Given the description of an element on the screen output the (x, y) to click on. 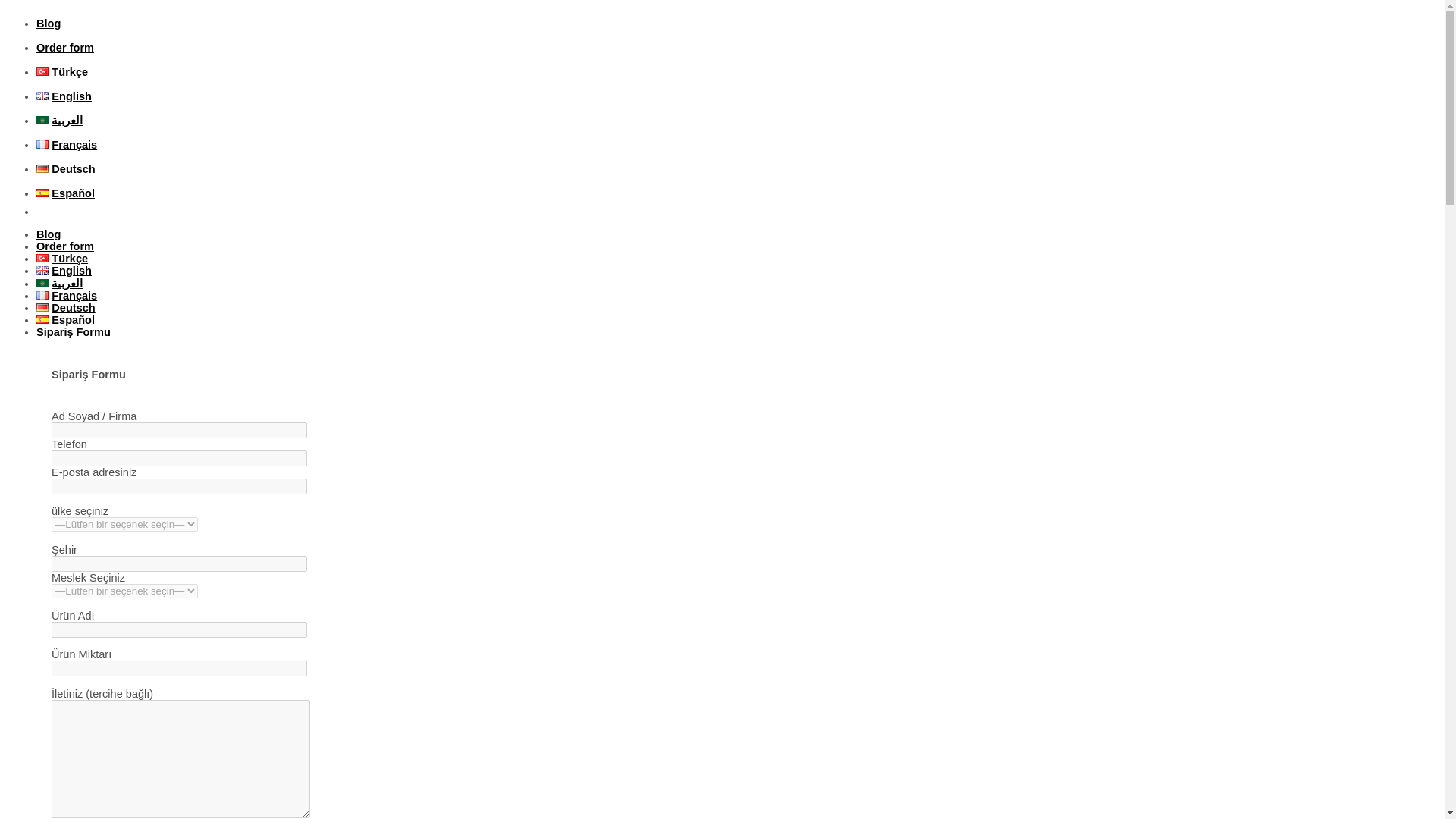
English (63, 270)
Order form (65, 47)
Blog (48, 23)
Deutsch (66, 168)
Order form (65, 246)
English (63, 96)
Deutsch (66, 307)
Blog (48, 234)
